Given the description of an element on the screen output the (x, y) to click on. 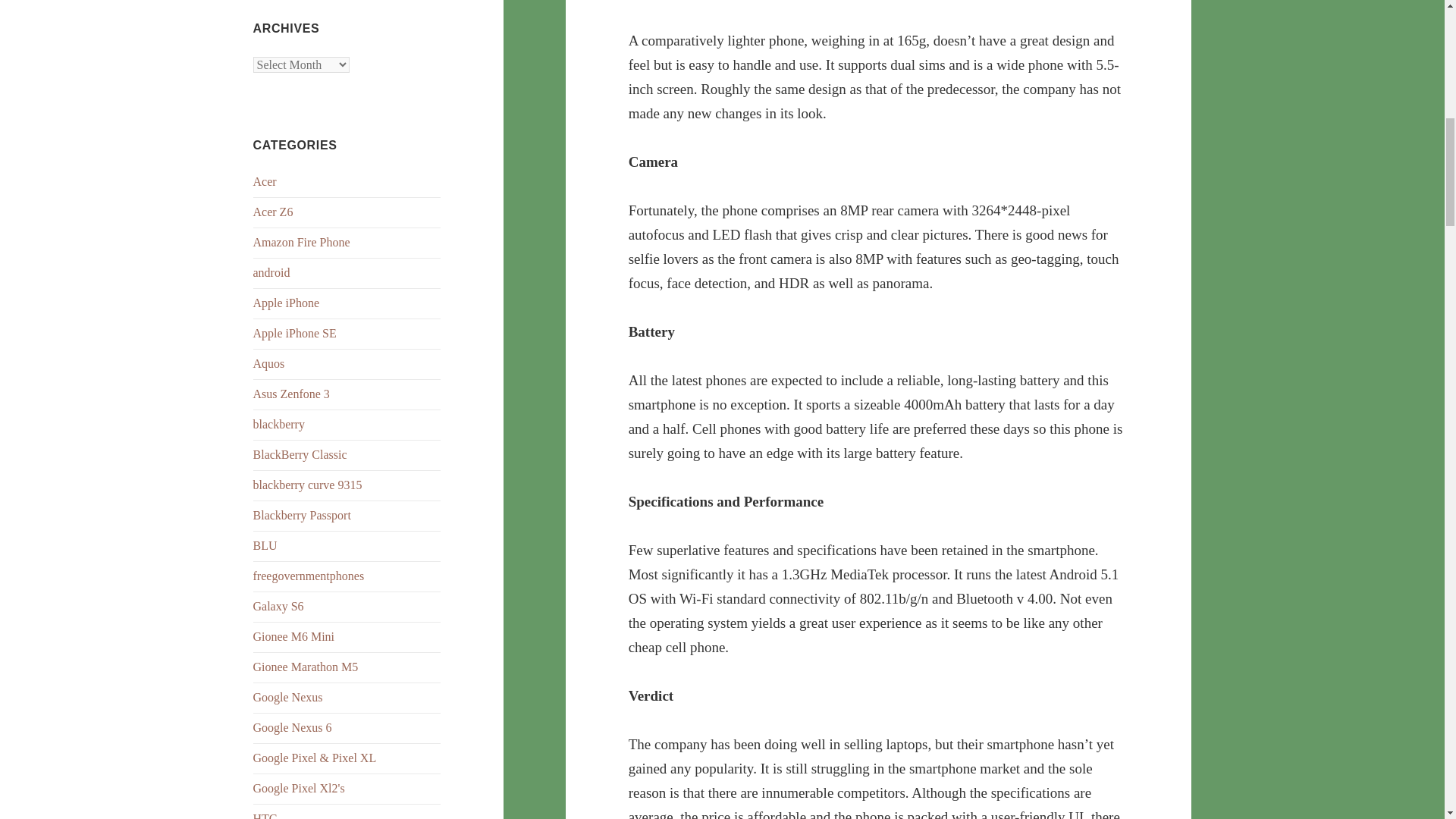
Google Nexus (288, 697)
Google Pixel Xl2's (299, 788)
blackberry curve 9315 (307, 484)
Gionee M6 Mini (293, 635)
Gionee Marathon M5 (305, 666)
Galaxy S6 (278, 605)
BlackBerry Classic (300, 454)
Blackberry Passport (301, 514)
android (271, 272)
Apple iPhone SE (294, 332)
freegovernmentphones (309, 575)
Acer (264, 181)
Aquos (269, 363)
Amazon Fire Phone (301, 241)
blackberry (278, 423)
